Given the description of an element on the screen output the (x, y) to click on. 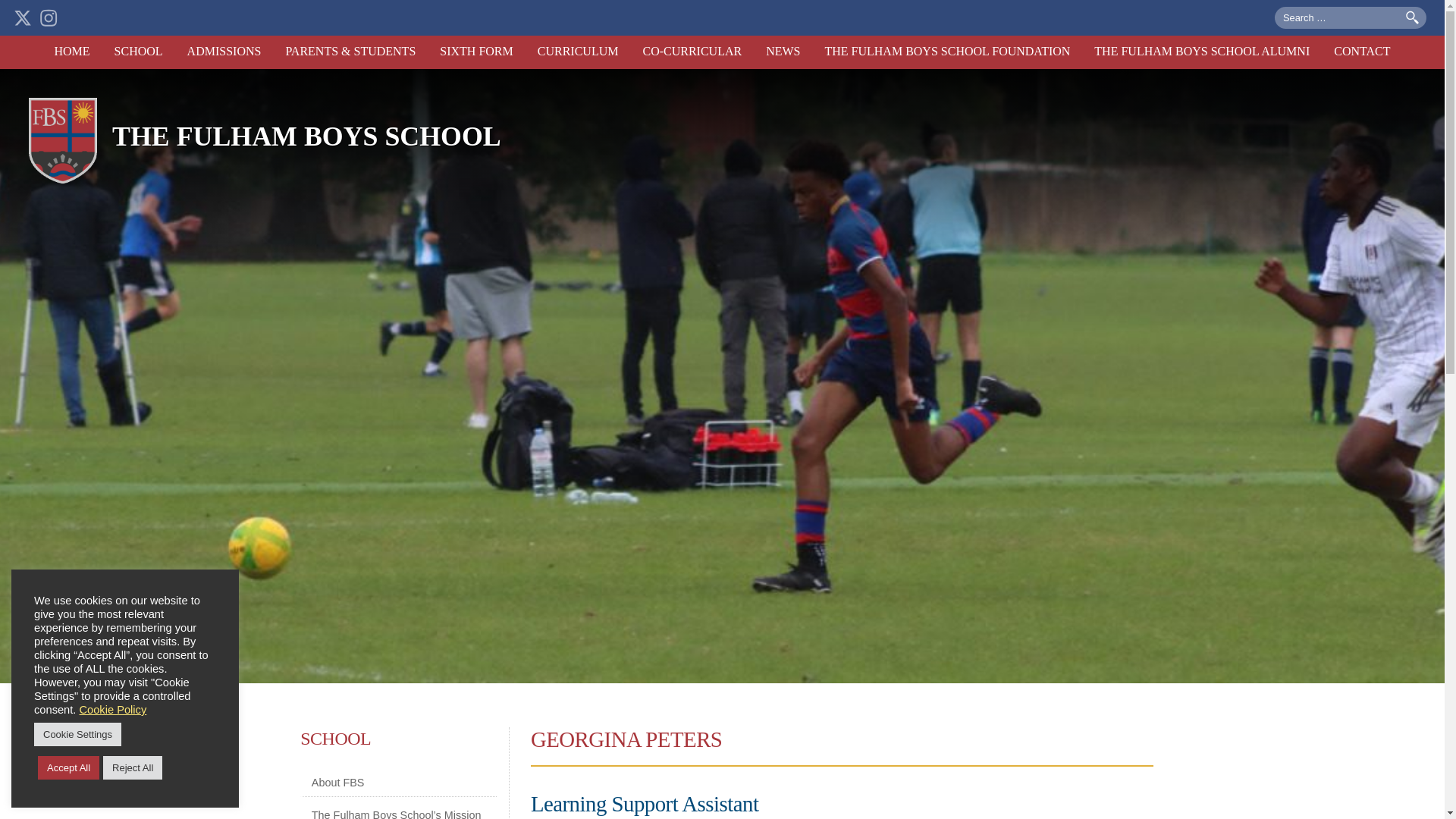
Search (1413, 17)
Instagram (48, 17)
SCHOOL (137, 52)
Search (1413, 17)
Search (1413, 17)
HOME (71, 52)
ADMISSIONS (223, 52)
Twitter (22, 17)
